Given the description of an element on the screen output the (x, y) to click on. 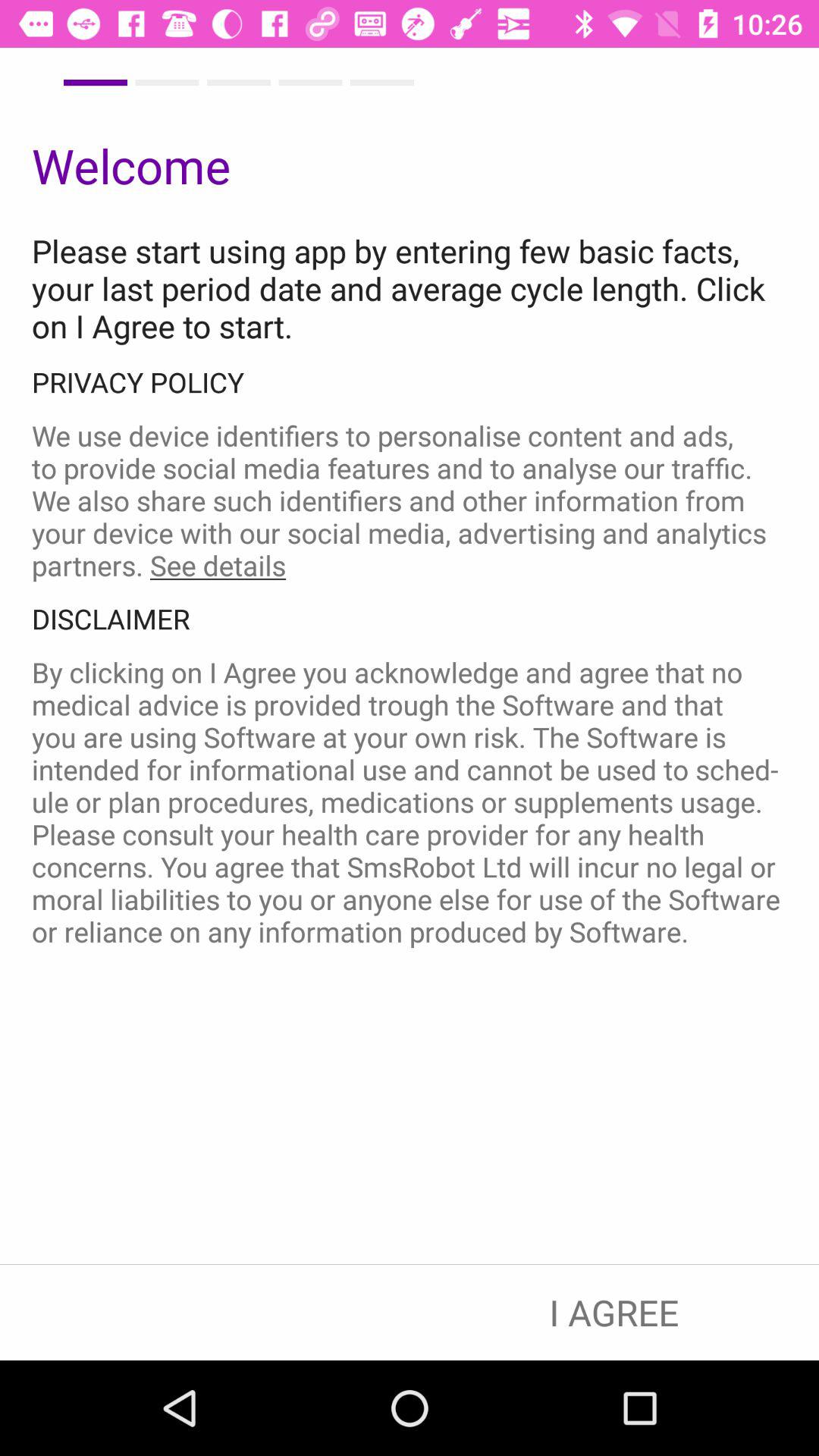
scroll to the we use device icon (409, 500)
